Given the description of an element on the screen output the (x, y) to click on. 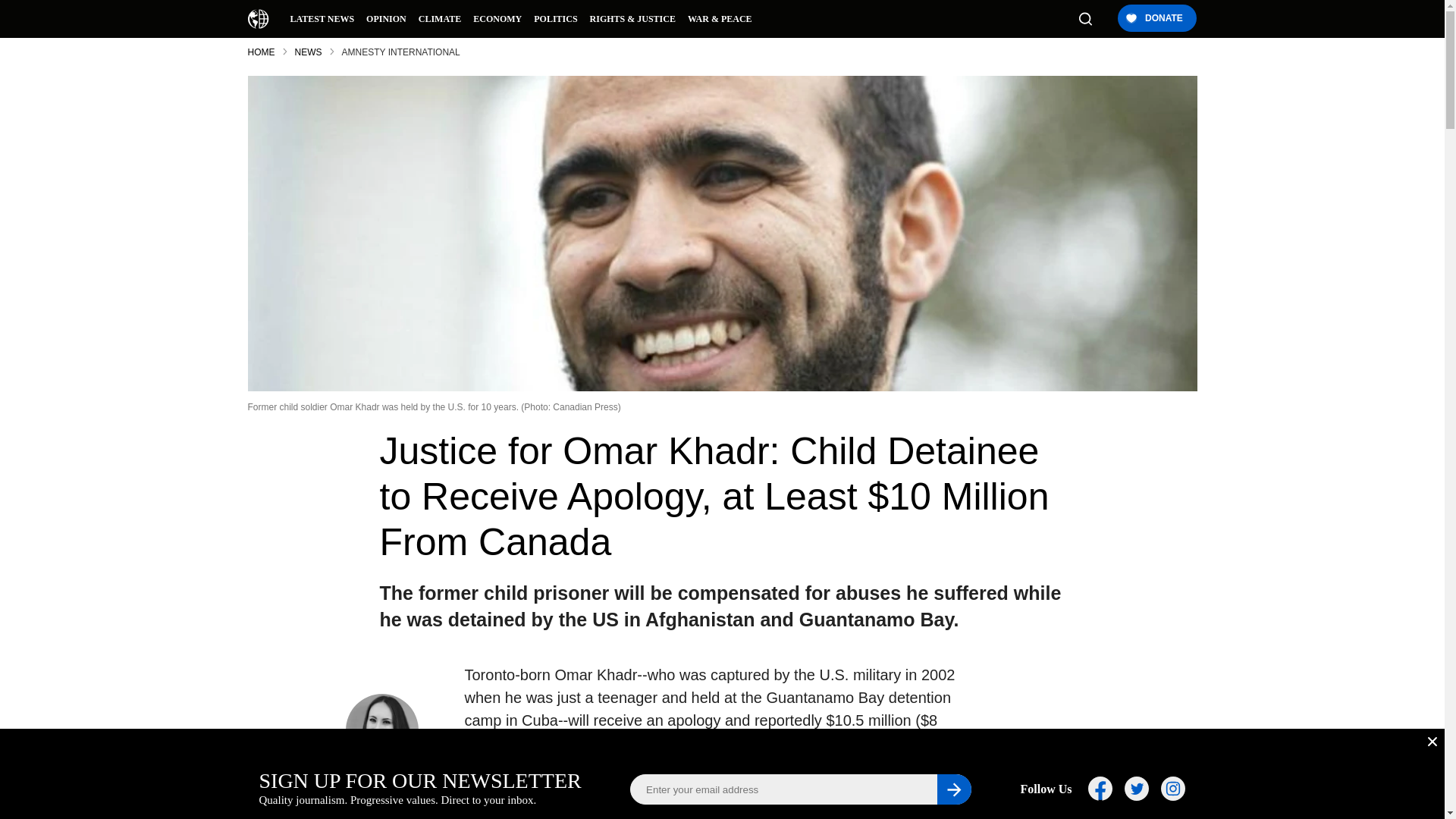
Donate Button (1155, 19)
POLITICS (555, 18)
ECONOMY (497, 18)
Common Dreams (257, 17)
OPINION (385, 18)
CLIMATE (439, 18)
LATEST NEWS (321, 18)
